Given the description of an element on the screen output the (x, y) to click on. 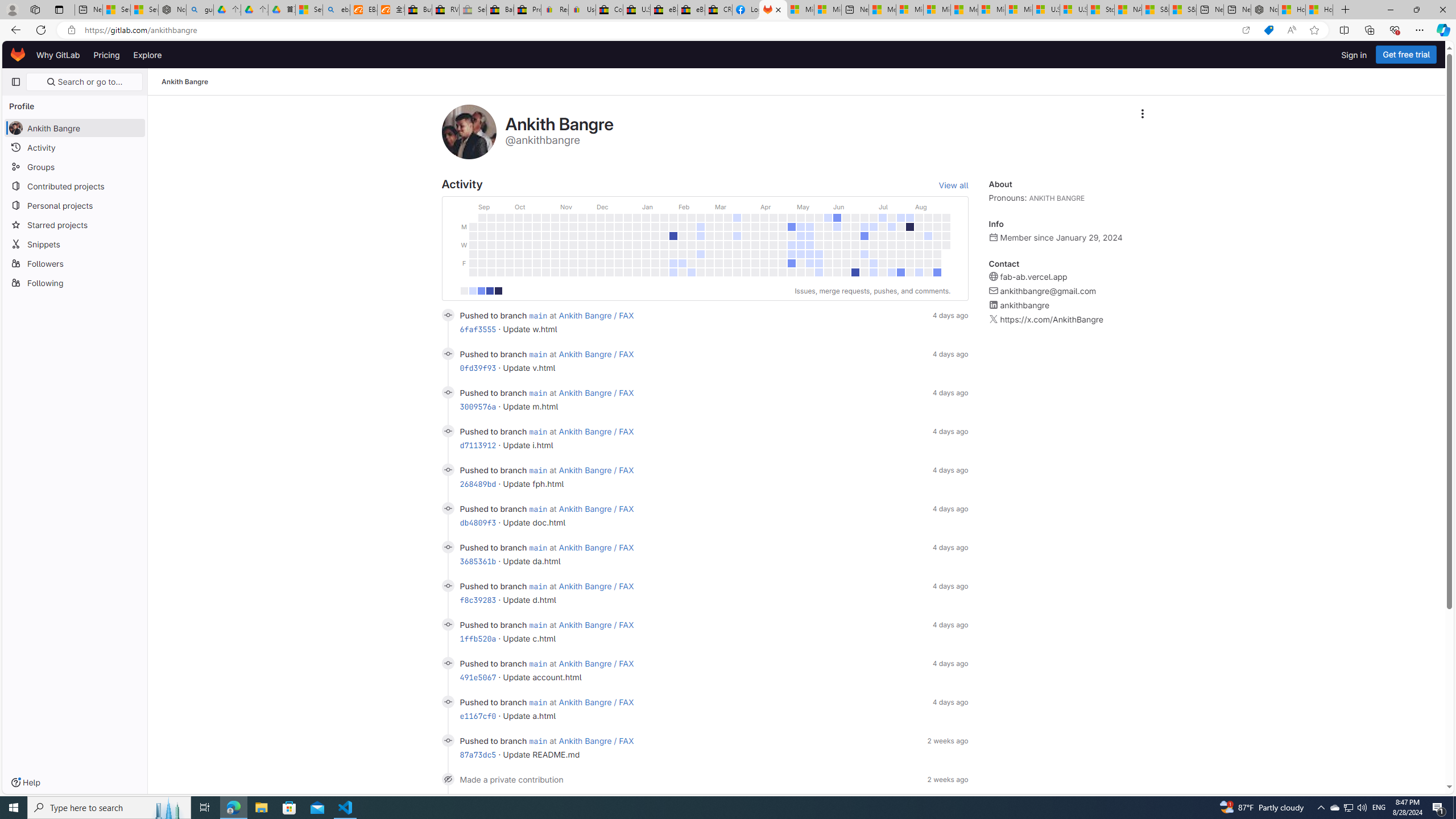
Ankith Bangre / FAX (596, 740)
Groups (74, 166)
Snippets (74, 244)
